Given the description of an element on the screen output the (x, y) to click on. 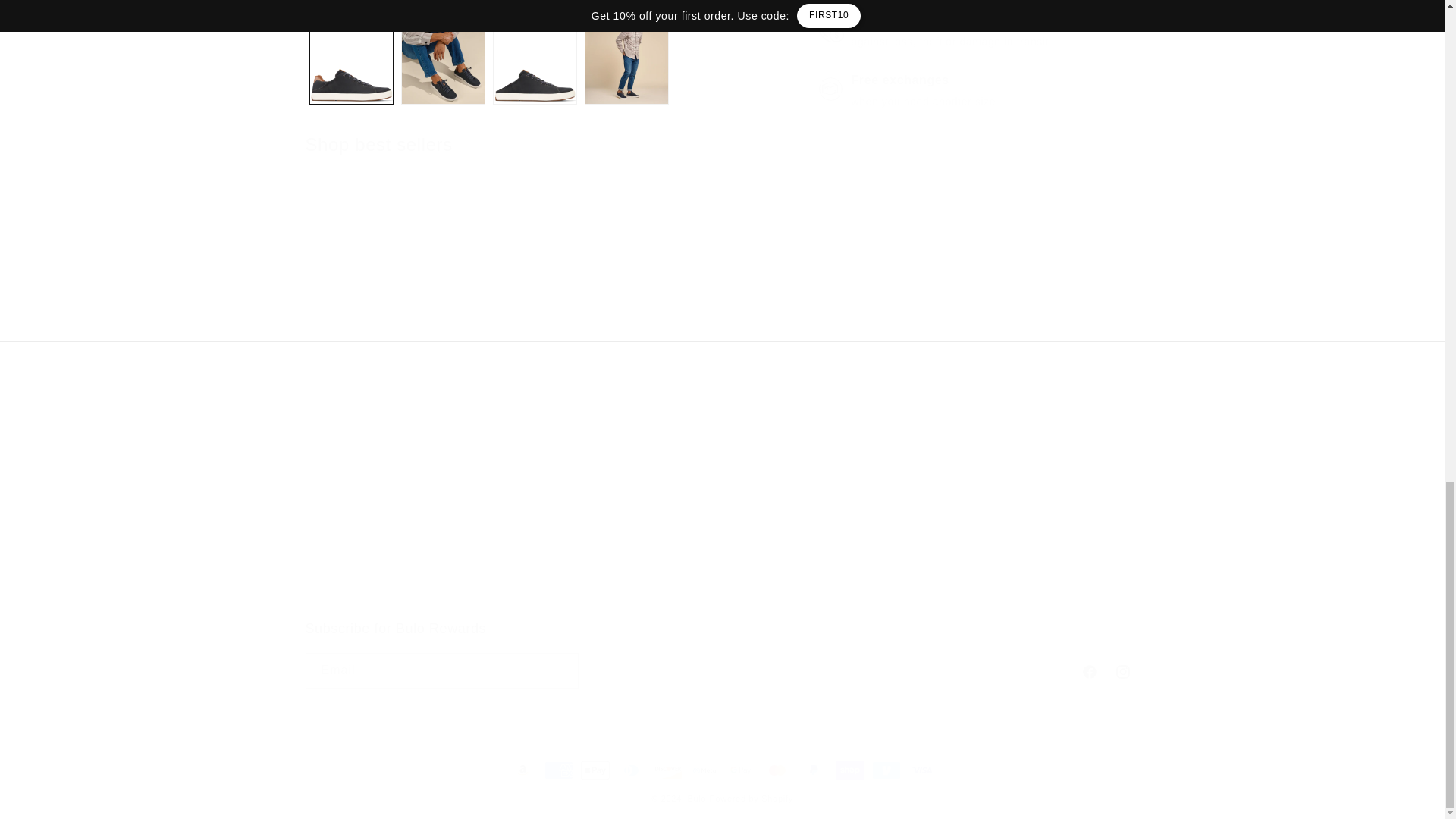
Cydwoq (512, 283)
Pantanetti (792, 283)
Trippen (652, 283)
Shop best sellers (406, 529)
Kork-Ease (371, 283)
Lemargo (721, 653)
